Given the description of an element on the screen output the (x, y) to click on. 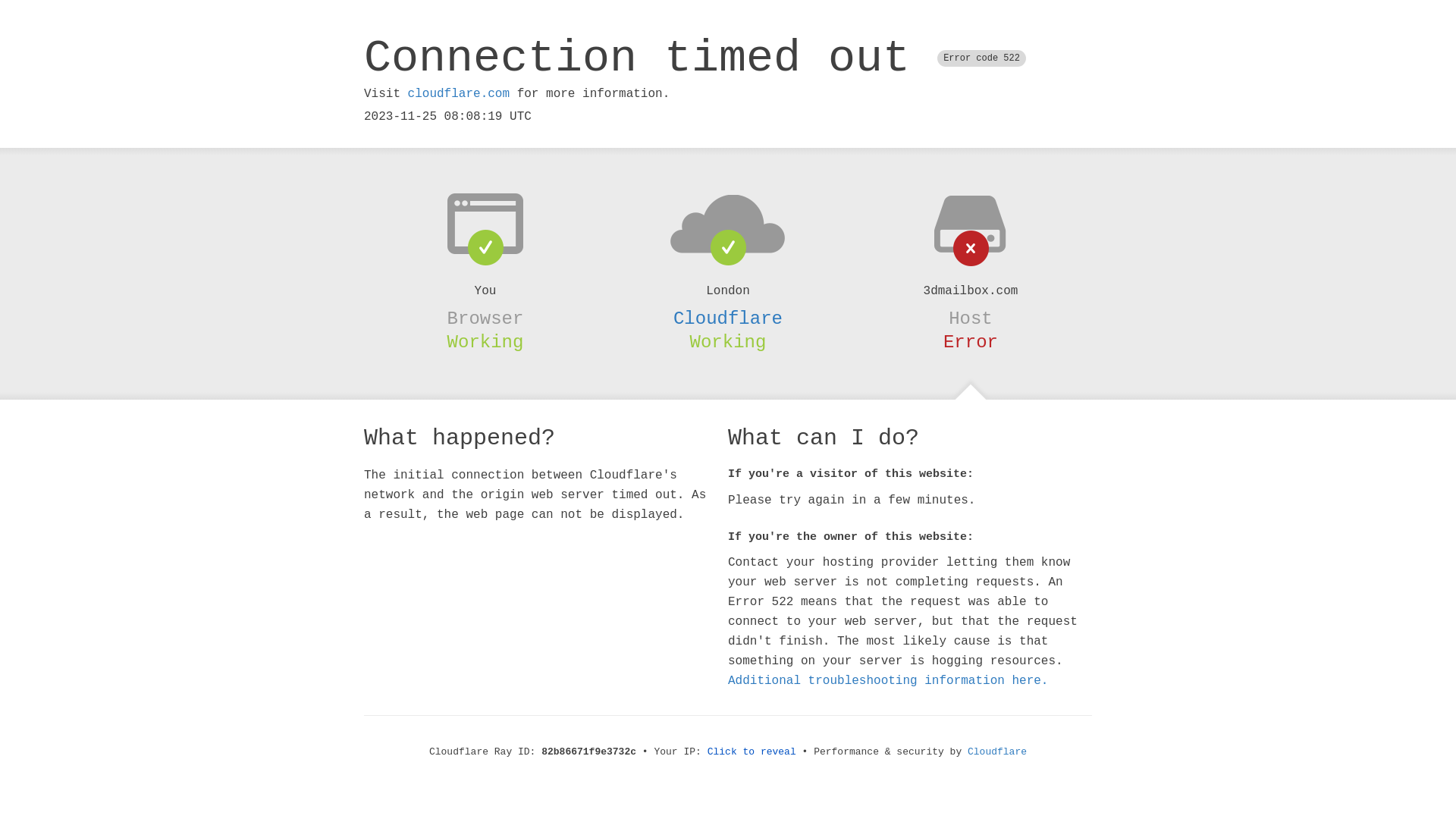
Additional troubleshooting information here. Element type: text (888, 680)
Click to reveal Element type: text (751, 751)
Cloudflare Element type: text (727, 318)
cloudflare.com Element type: text (458, 93)
Cloudflare Element type: text (996, 751)
